Given the description of an element on the screen output the (x, y) to click on. 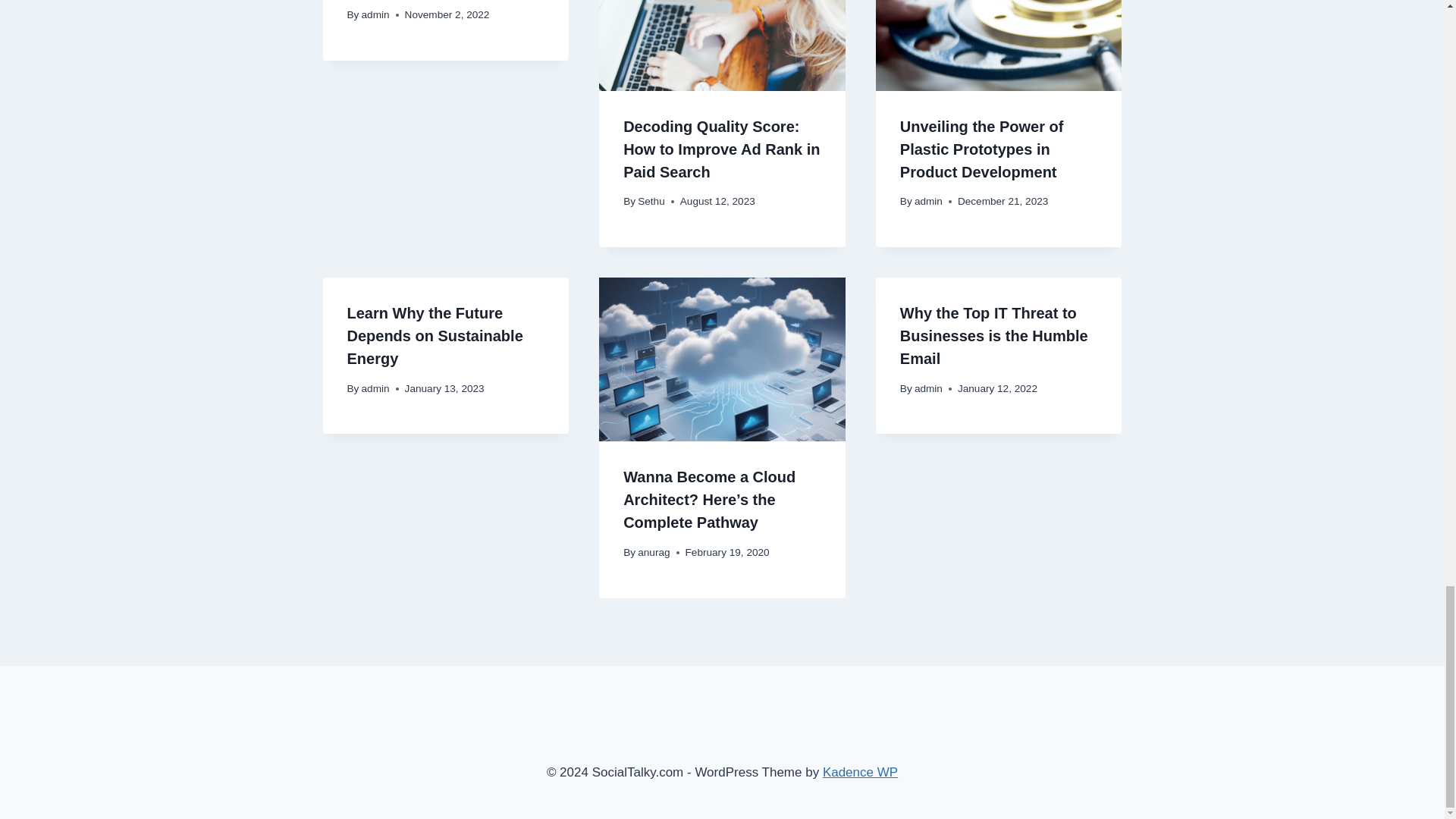
admin (375, 14)
Sethu (651, 201)
admin (928, 201)
